Given the description of an element on the screen output the (x, y) to click on. 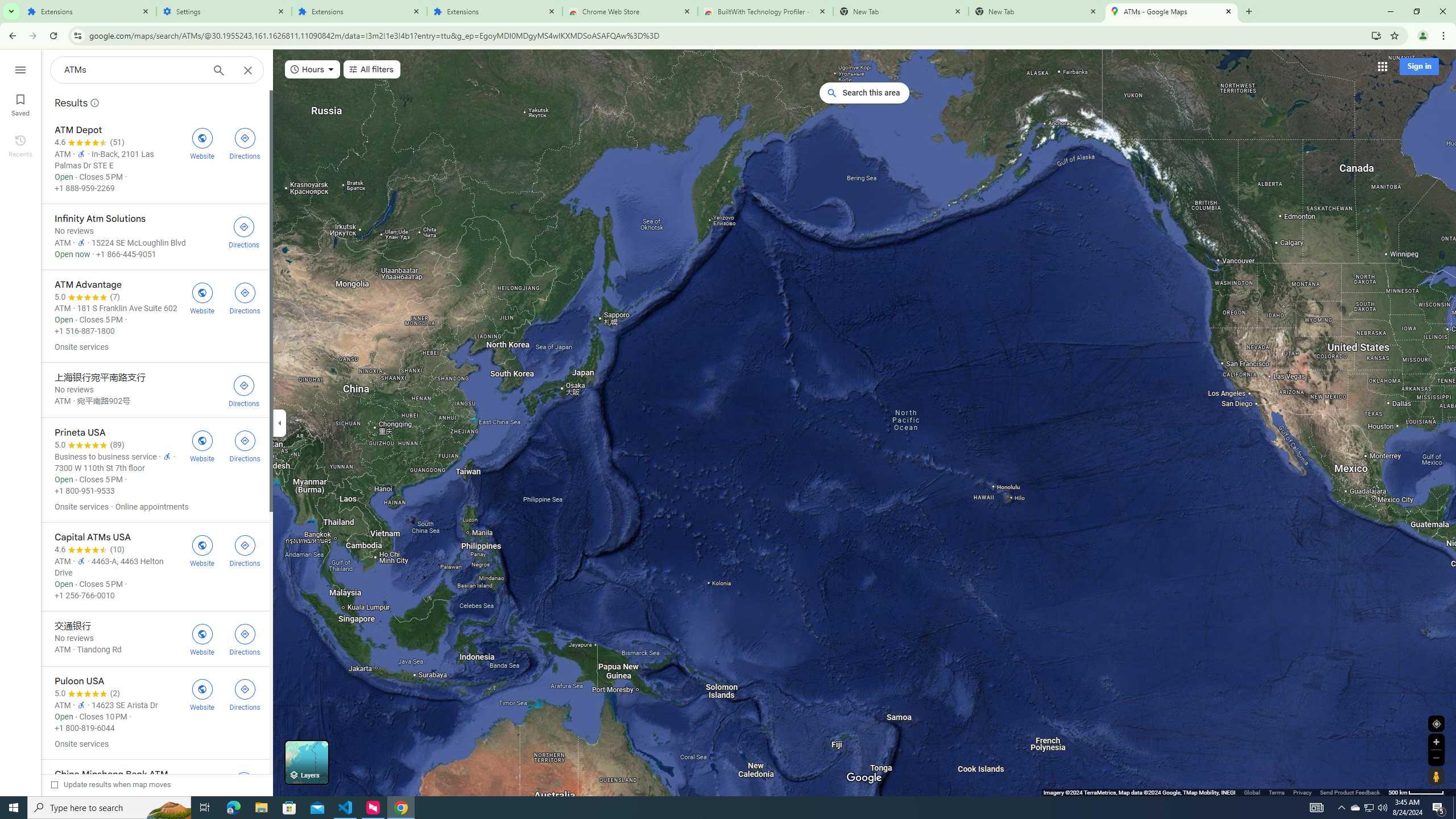
Saved (20, 104)
Global (1251, 792)
ATM Depot (154, 159)
5.0 stars 7 Reviews (87, 297)
Get directions to Infinity Atm Solutions (243, 230)
Get directions to Puloon USA (245, 693)
Capital ATMs USA (154, 566)
Visit ATM Advantage's website (202, 297)
AutomationID: searchboxinput (133, 69)
New Tab (1036, 11)
Extensions (359, 11)
Get directions to Prineta USA (245, 445)
